Given the description of an element on the screen output the (x, y) to click on. 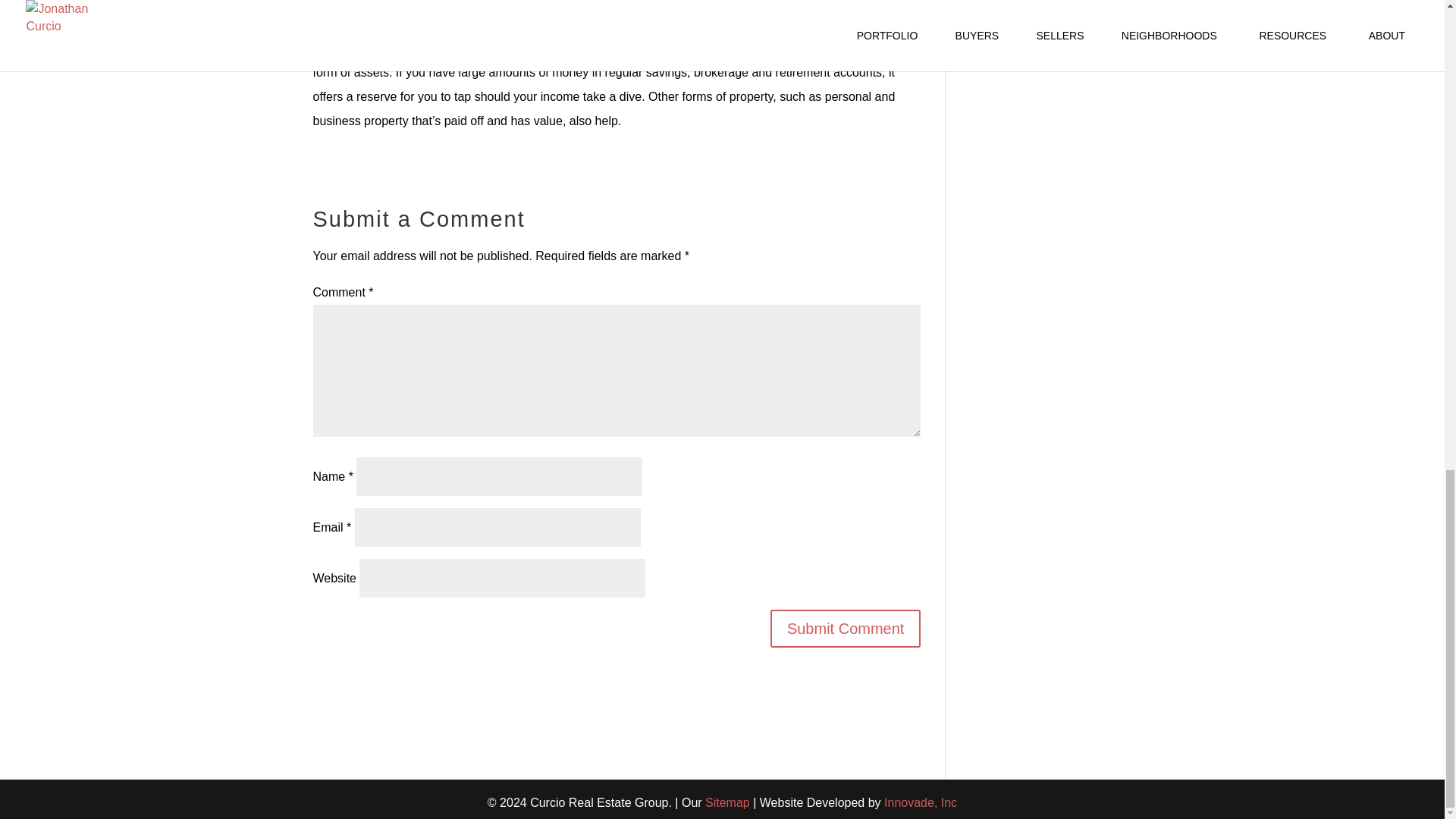
Innovade, Inc (919, 802)
Submit Comment (845, 628)
Submit Comment (845, 628)
Sitemap (726, 802)
